Given the description of an element on the screen output the (x, y) to click on. 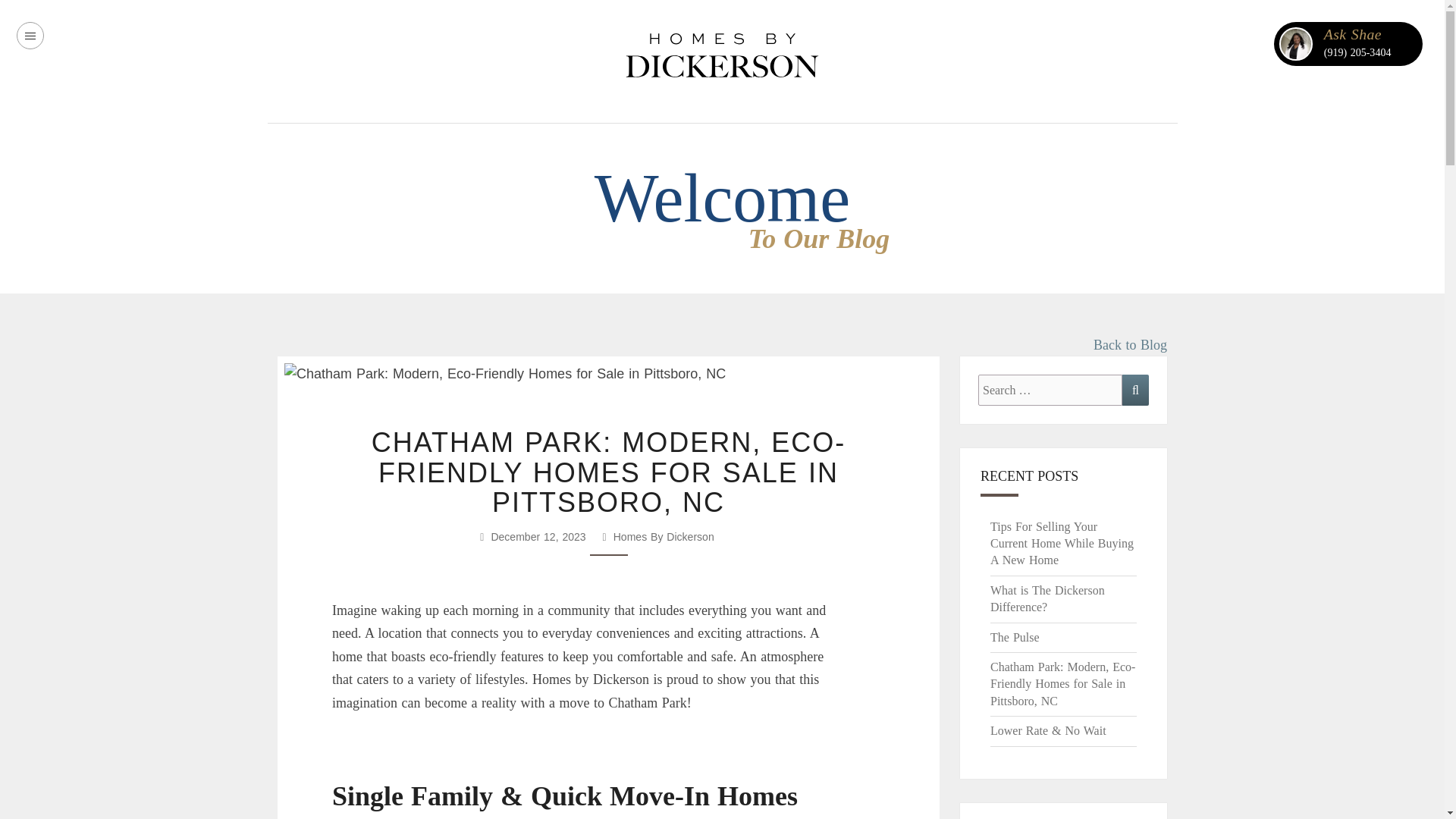
Menu (29, 35)
Tips For Selling Your Current Home While Buying A New Home (1062, 543)
Back to Blog (1130, 344)
The Pulse (1014, 636)
Tips For Selling Your Current Home While Buying A New Home (1062, 543)
Search for: (1050, 389)
The Pulse (1014, 636)
Homes By Dickerson (722, 53)
What is The Dickerson Difference? (1047, 598)
